Given the description of an element on the screen output the (x, y) to click on. 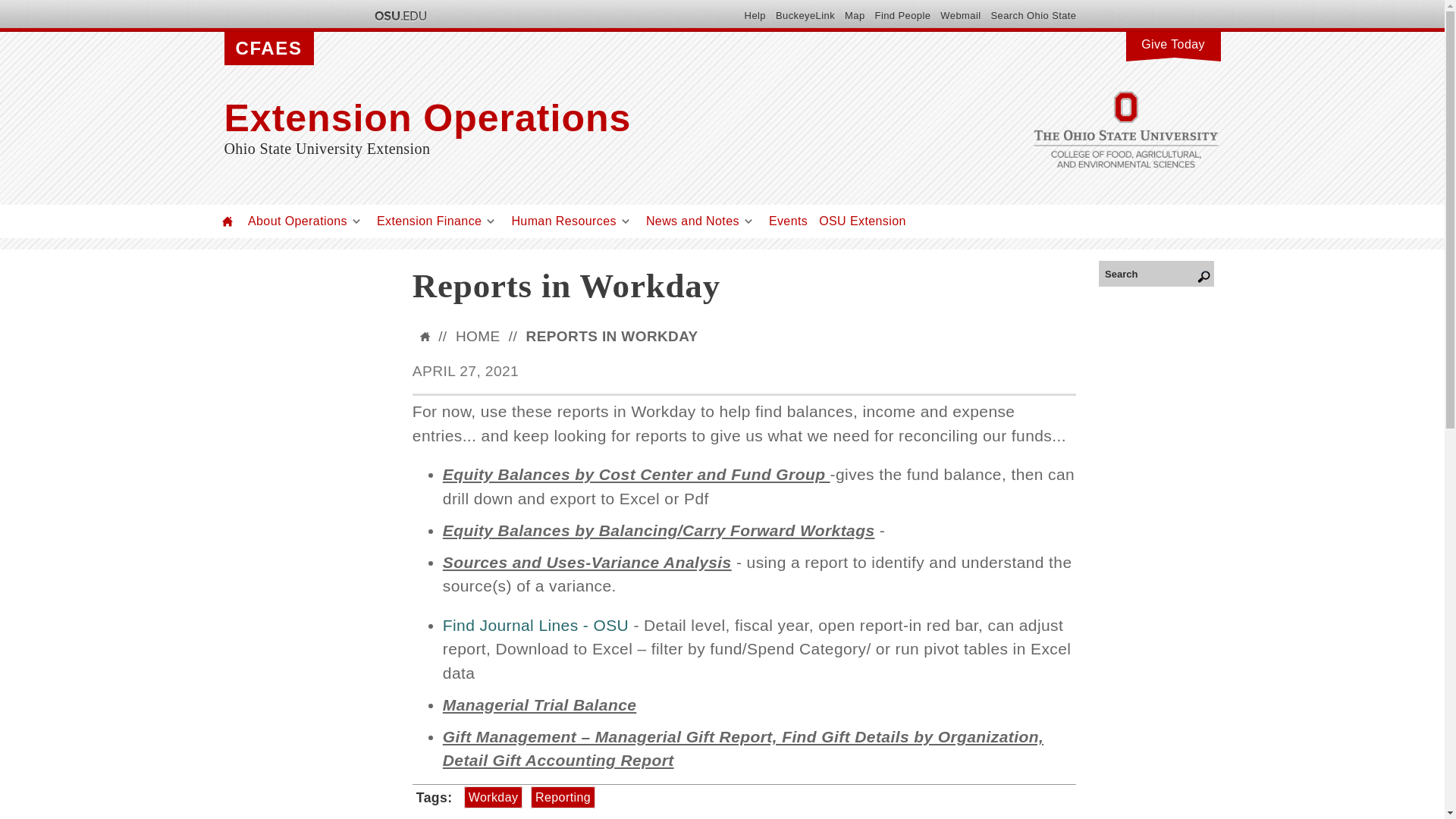
Search Ohio State (1032, 15)
About Operations (297, 221)
Home (572, 118)
Search (1155, 273)
Extension Operations (572, 118)
Help (754, 15)
CFAES (269, 48)
Map (854, 15)
Enter the terms you wish to search for. (1155, 273)
Find People (903, 15)
Webmail (959, 15)
Skip to main content (686, 1)
The Ohio State University (399, 15)
Home (226, 221)
BuckeyeLink (805, 15)
